Given the description of an element on the screen output the (x, y) to click on. 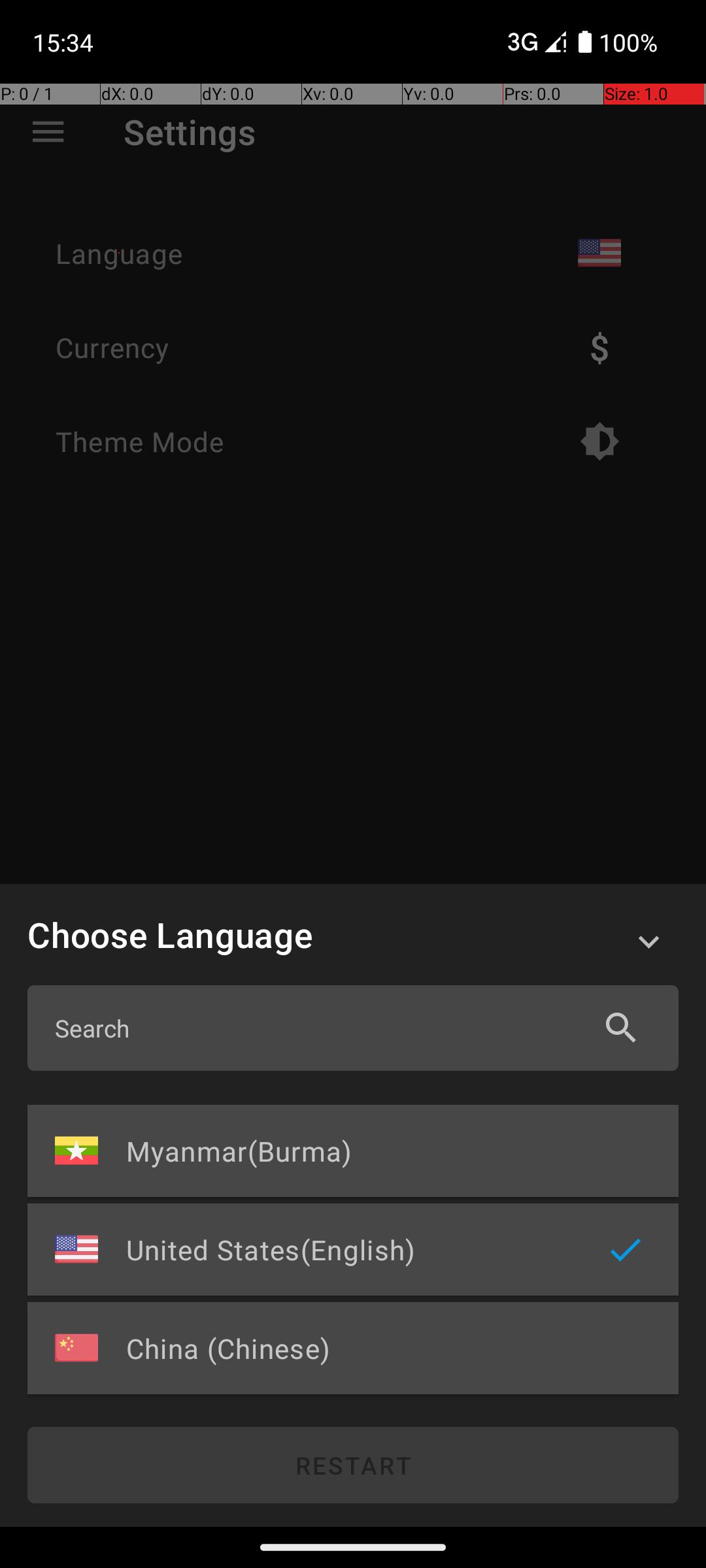
Choose Language Element type: android.widget.TextView (315, 934)
RESTART Element type: android.widget.Button (352, 1465)
Myanmar(Burma) Element type: android.widget.TextView (348, 1150)
United States(English) Element type: android.widget.TextView (348, 1249)
China (Chinese) Element type: android.widget.TextView (348, 1347)
